Given the description of an element on the screen output the (x, y) to click on. 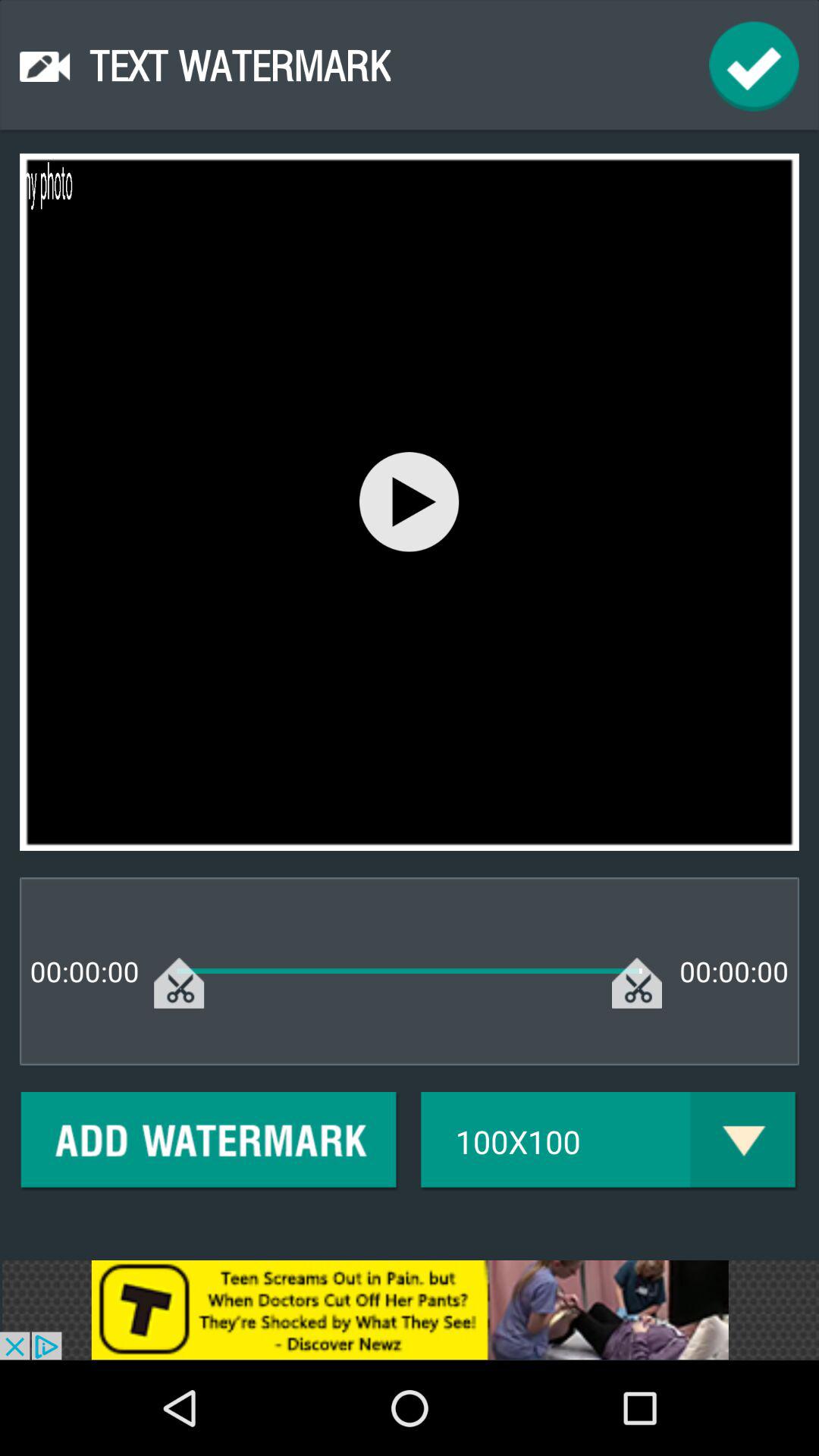
add watermark (209, 1141)
